Given the description of an element on the screen output the (x, y) to click on. 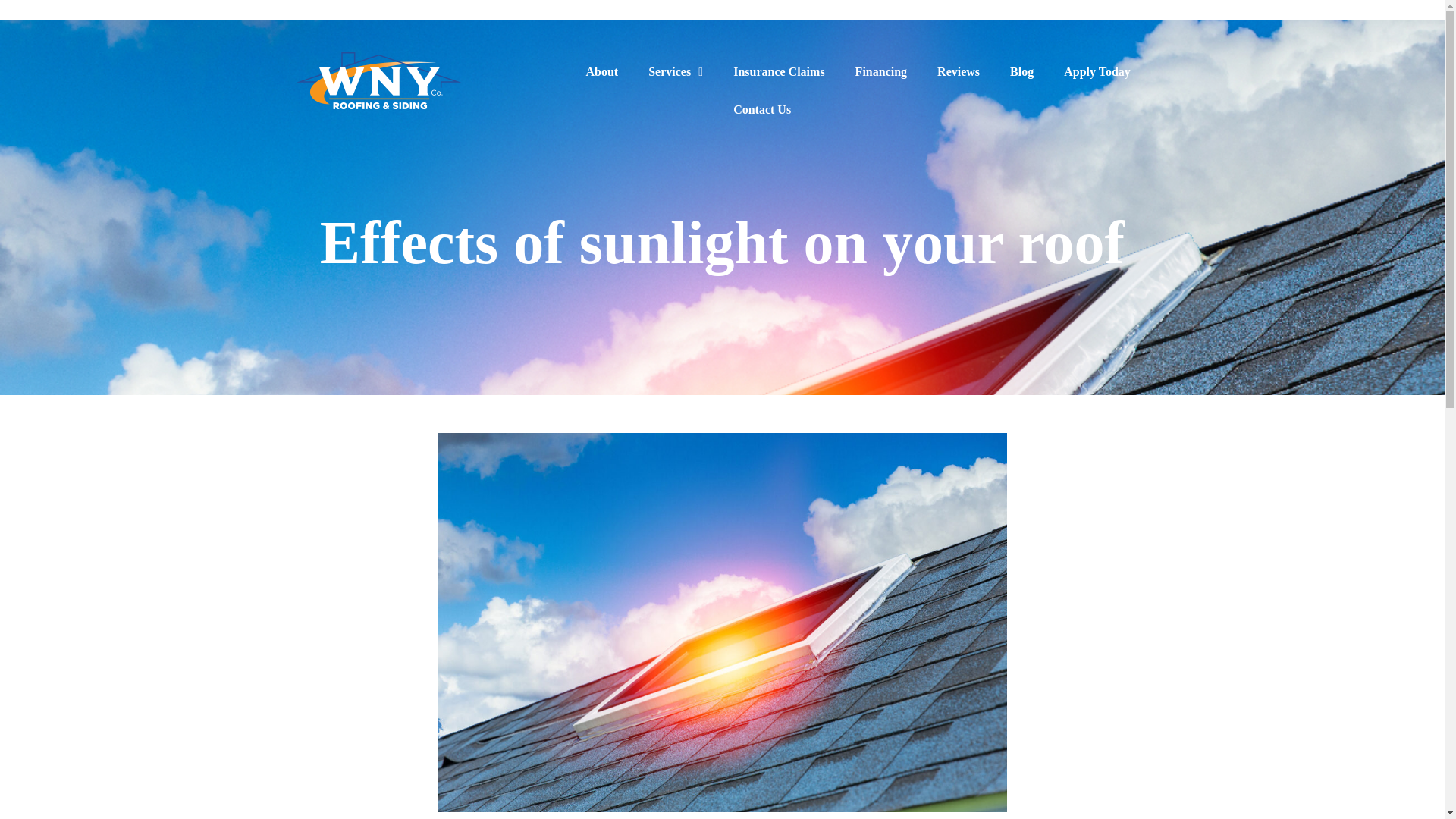
Insurance Claims (778, 71)
About (601, 71)
The WNY Company (377, 78)
Reviews (958, 71)
Apply Today (1097, 71)
Contact Us (761, 109)
Services (675, 71)
Financing (881, 71)
Blog (1021, 71)
